Given the description of an element on the screen output the (x, y) to click on. 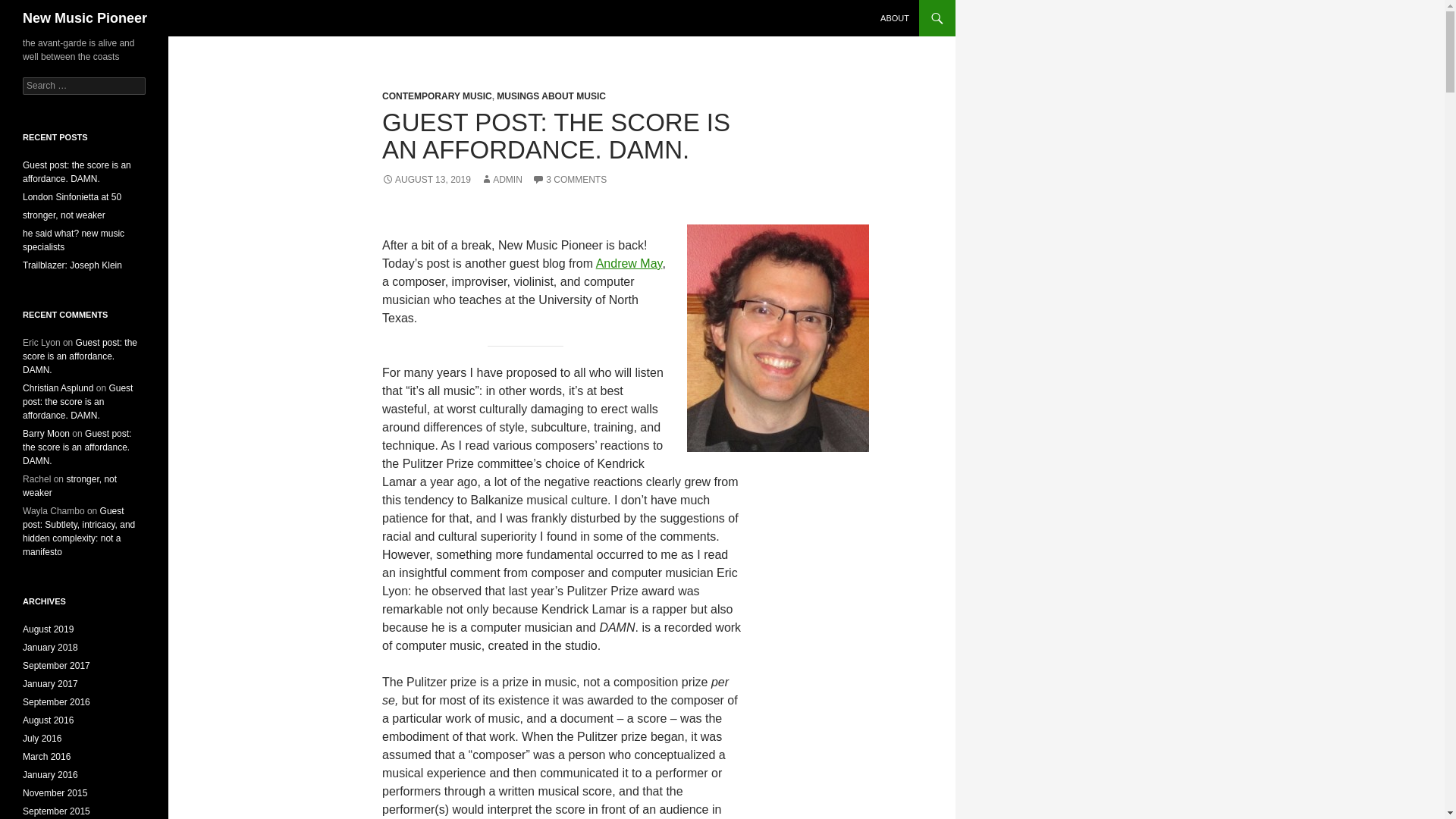
Search (30, 8)
CONTEMPORARY MUSIC (436, 95)
Trailblazer: Joseph Klein (72, 265)
Andrew May (628, 263)
Christian Asplund (58, 388)
3 COMMENTS (569, 179)
AUGUST 13, 2019 (425, 179)
London Sinfonietta at 50 (71, 196)
Guest post: the score is an affordance. DAMN. (77, 401)
January 2018 (50, 647)
Barry Moon (46, 433)
Guest post: the score is an affordance. DAMN. (77, 171)
MUSINGS ABOUT MUSIC (550, 95)
August 2019 (48, 629)
Guest post: the score is an affordance. DAMN. (77, 447)
